Given the description of an element on the screen output the (x, y) to click on. 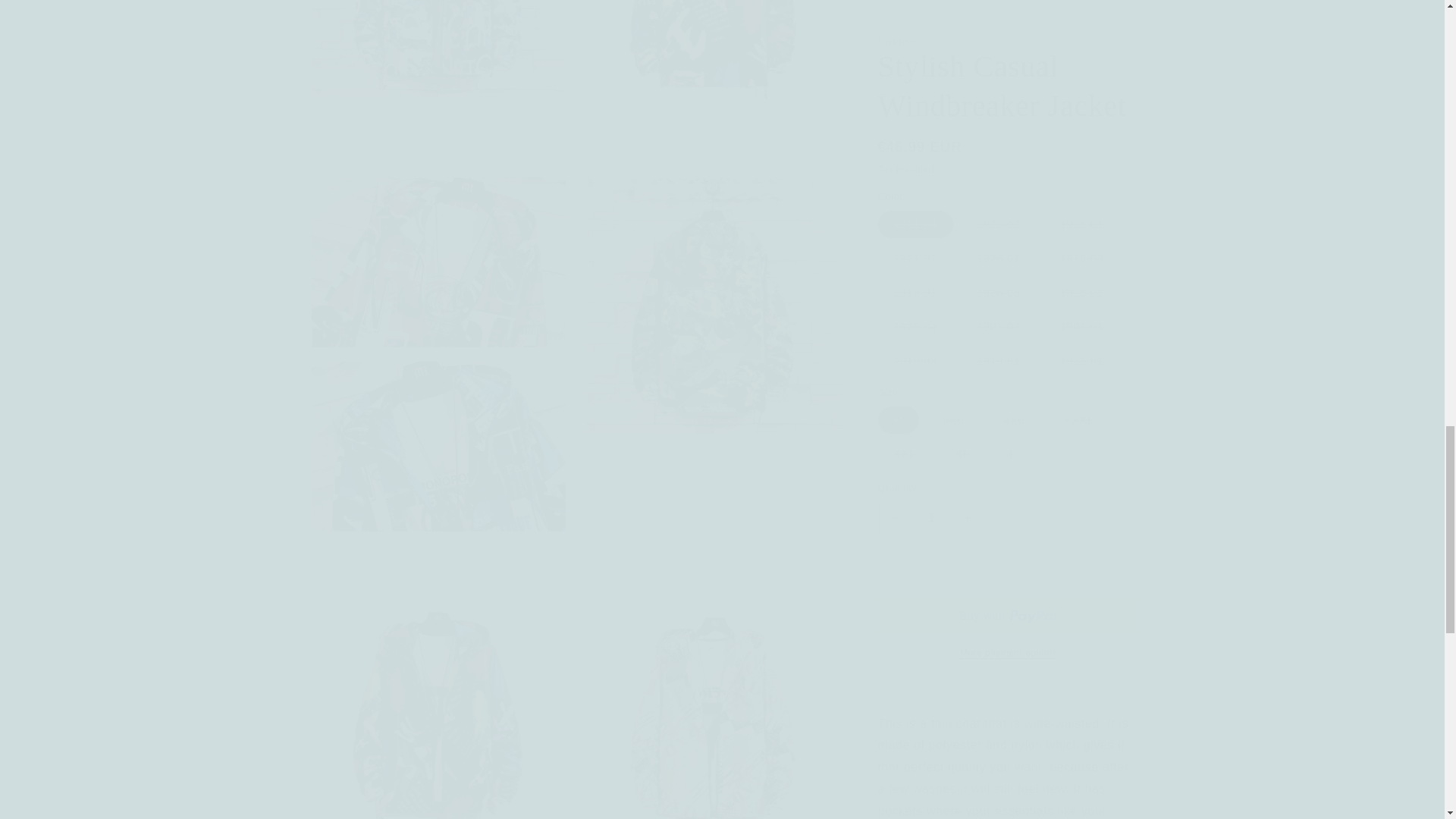
Open media 7 in modal (713, 58)
Open media 10 in modal (438, 678)
Open media 11 in modal (713, 678)
Open media 6 in modal (438, 58)
